Given the description of an element on the screen output the (x, y) to click on. 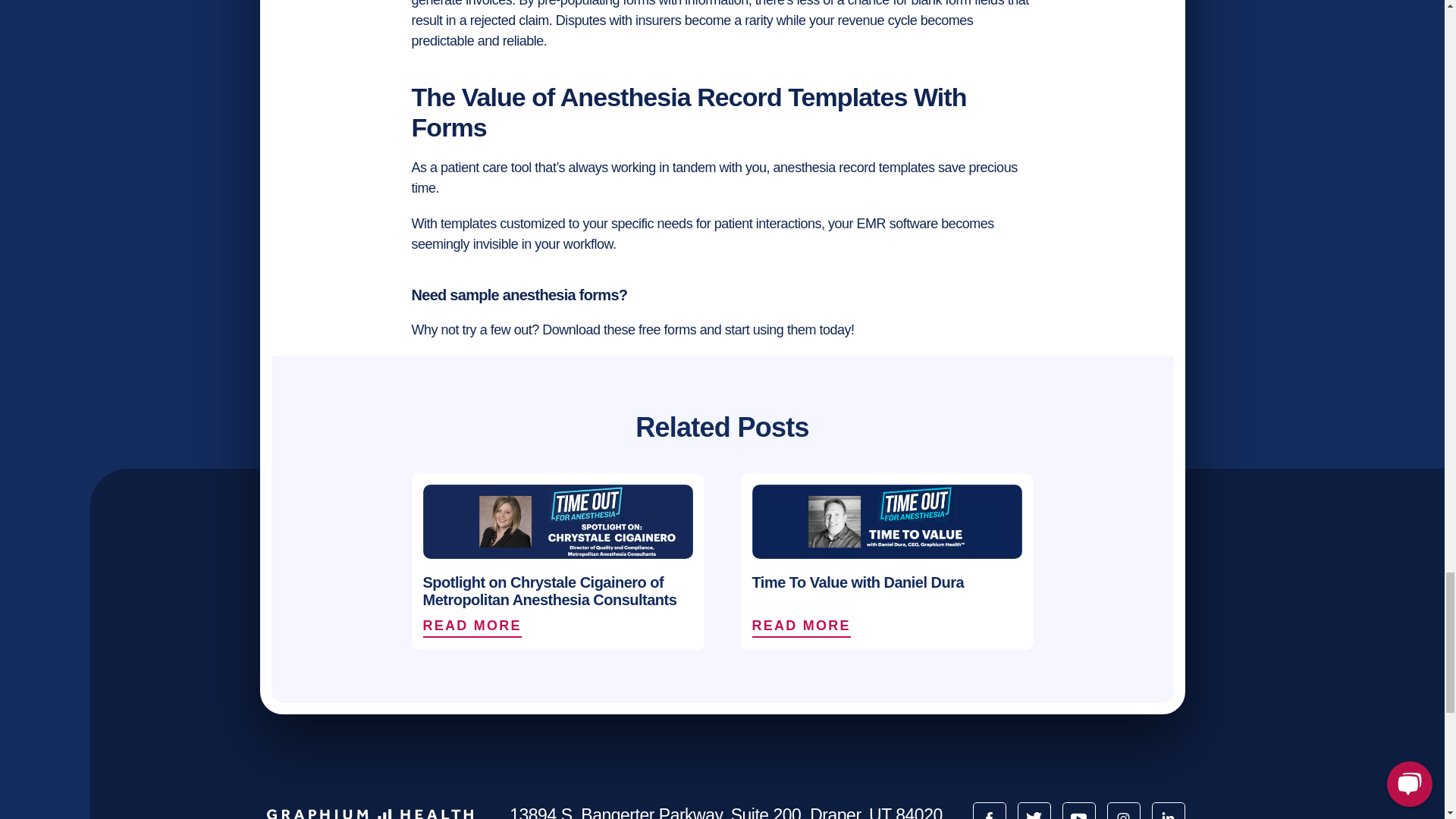
Facebook (989, 810)
READ MORE (474, 626)
Time To Value with Daniel Dura (887, 577)
Linkedin (1168, 810)
Instagram (1123, 810)
READ MORE (887, 626)
READ MORE (804, 626)
READ MORE (558, 626)
YouTube (1077, 810)
Twitter (1034, 810)
